Given the description of an element on the screen output the (x, y) to click on. 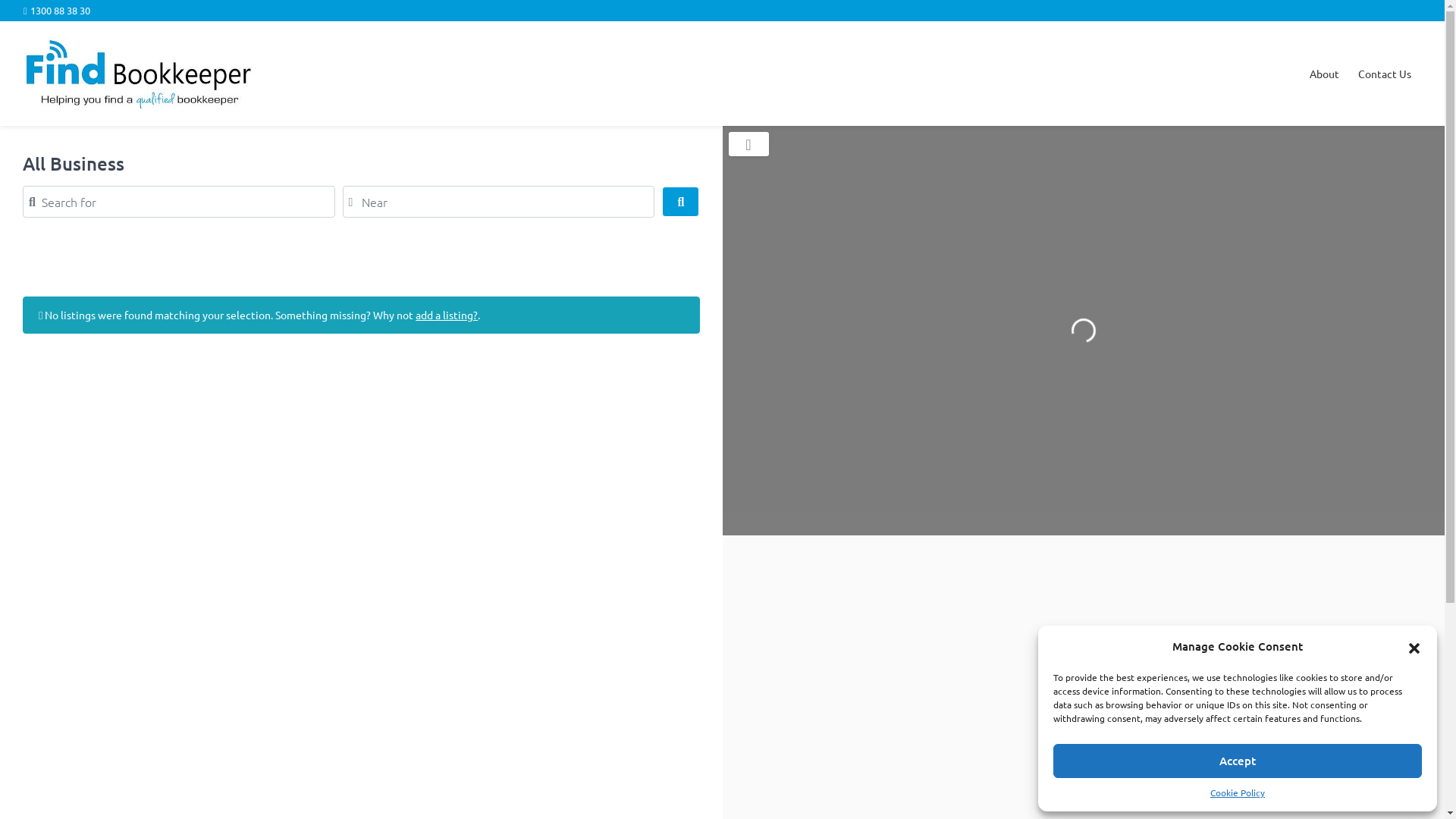
Search Element type: text (680, 201)
Cookie Policy Element type: text (1237, 792)
Contact Us Element type: text (1384, 73)
add a listing? Element type: text (446, 314)
Accept Element type: text (1237, 760)
About Element type: text (1324, 73)
